Given the description of an element on the screen output the (x, y) to click on. 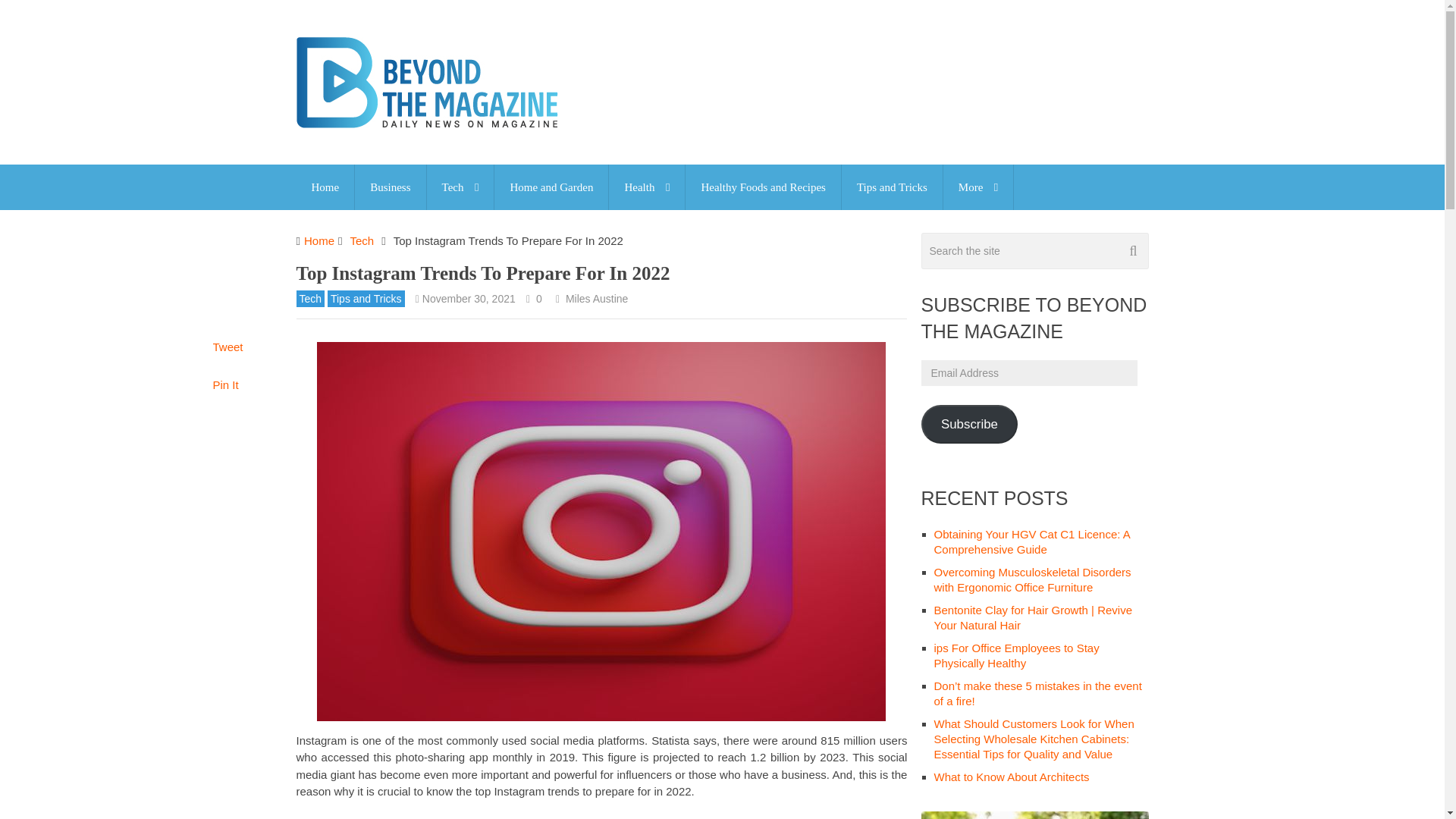
Tips and Tricks (891, 186)
Home (324, 186)
Posts by Miles Austine (596, 298)
View all posts in Tech (309, 298)
Home and Garden (551, 186)
Tech (460, 186)
More (978, 186)
View all posts in Tips and Tricks (365, 298)
Business (390, 186)
Health (646, 186)
